Given the description of an element on the screen output the (x, y) to click on. 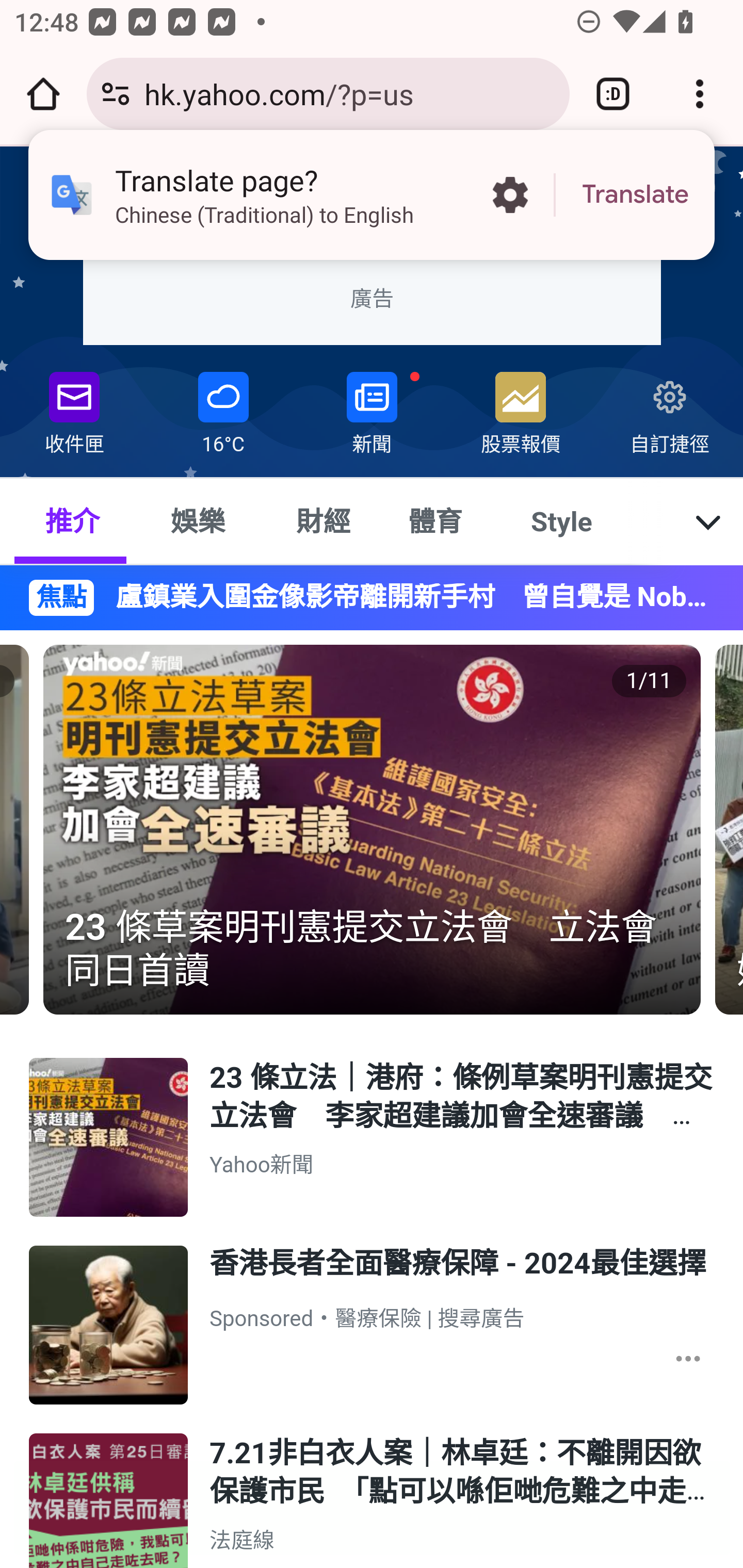
Open the home page (43, 93)
Connection is secure (115, 93)
Switch or close tabs (612, 93)
Customize and control Google Chrome (699, 93)
hk.yahoo.com/?p=us (349, 92)
Translate (634, 195)
More options in the Translate page? (509, 195)
icon-mail 收件匣 icon-mail 收件匣 (74, 408)
weather 16°C weather 16 °C (222, 408)
icon-news 新聞 icon-news 新聞 (372, 408)
icon-finance-quote 股票報價 icon-finance-quote 股票報價 (520, 408)
icon-settings 自訂捷徑 icon-settings 自訂捷徑 (668, 408)
推介 (72, 520)
娛樂 (196, 520)
財經 (323, 520)
體育 (434, 520)
Style (562, 520)
盧鎮業入圍金像影帝離開新手村　曾自覺是 Nobody (404, 596)
